Given the description of an element on the screen output the (x, y) to click on. 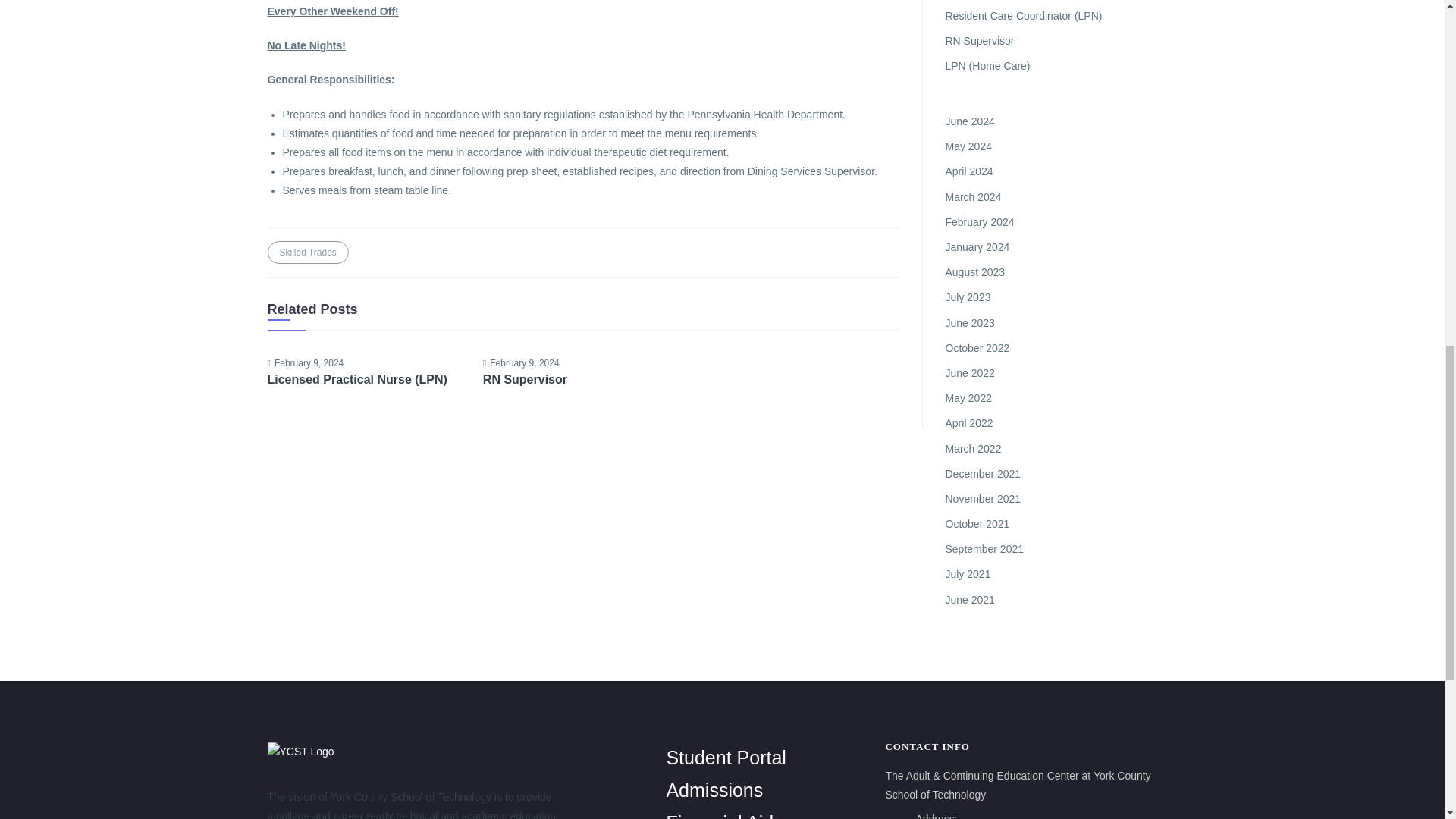
Admissions (713, 789)
Financial Aid (719, 815)
RN Supervisor (582, 379)
